Given the description of an element on the screen output the (x, y) to click on. 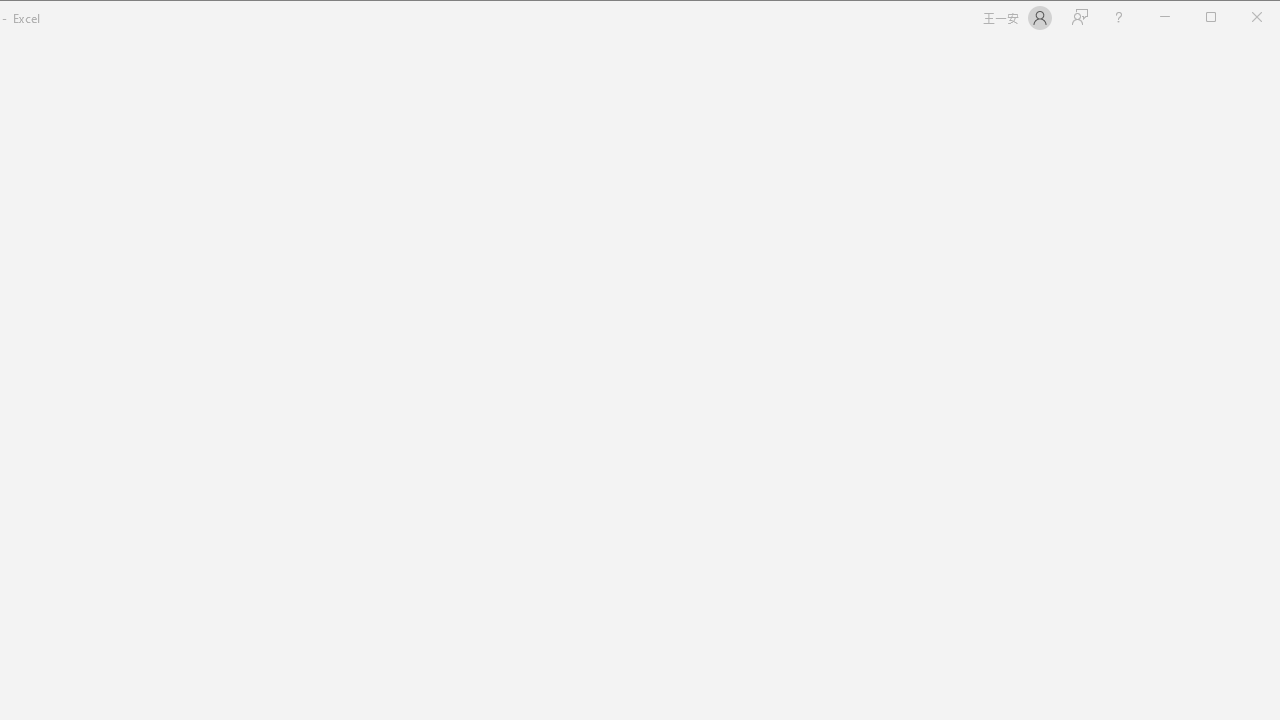
Maximize (1239, 18)
Help (1118, 17)
Minimize (1217, 18)
Close (1261, 18)
